Given the description of an element on the screen output the (x, y) to click on. 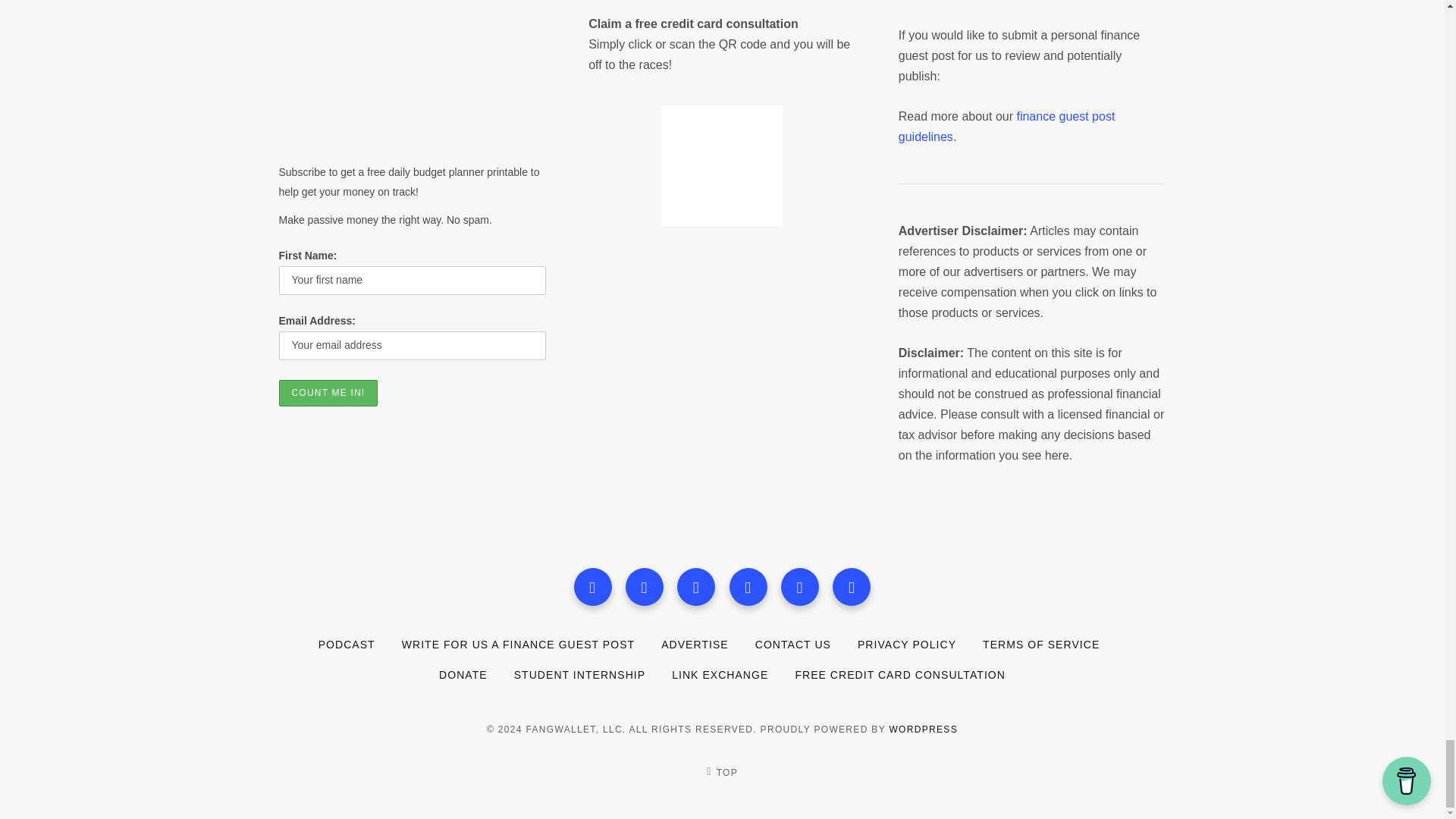
Count me in! (328, 393)
